Given the description of an element on the screen output the (x, y) to click on. 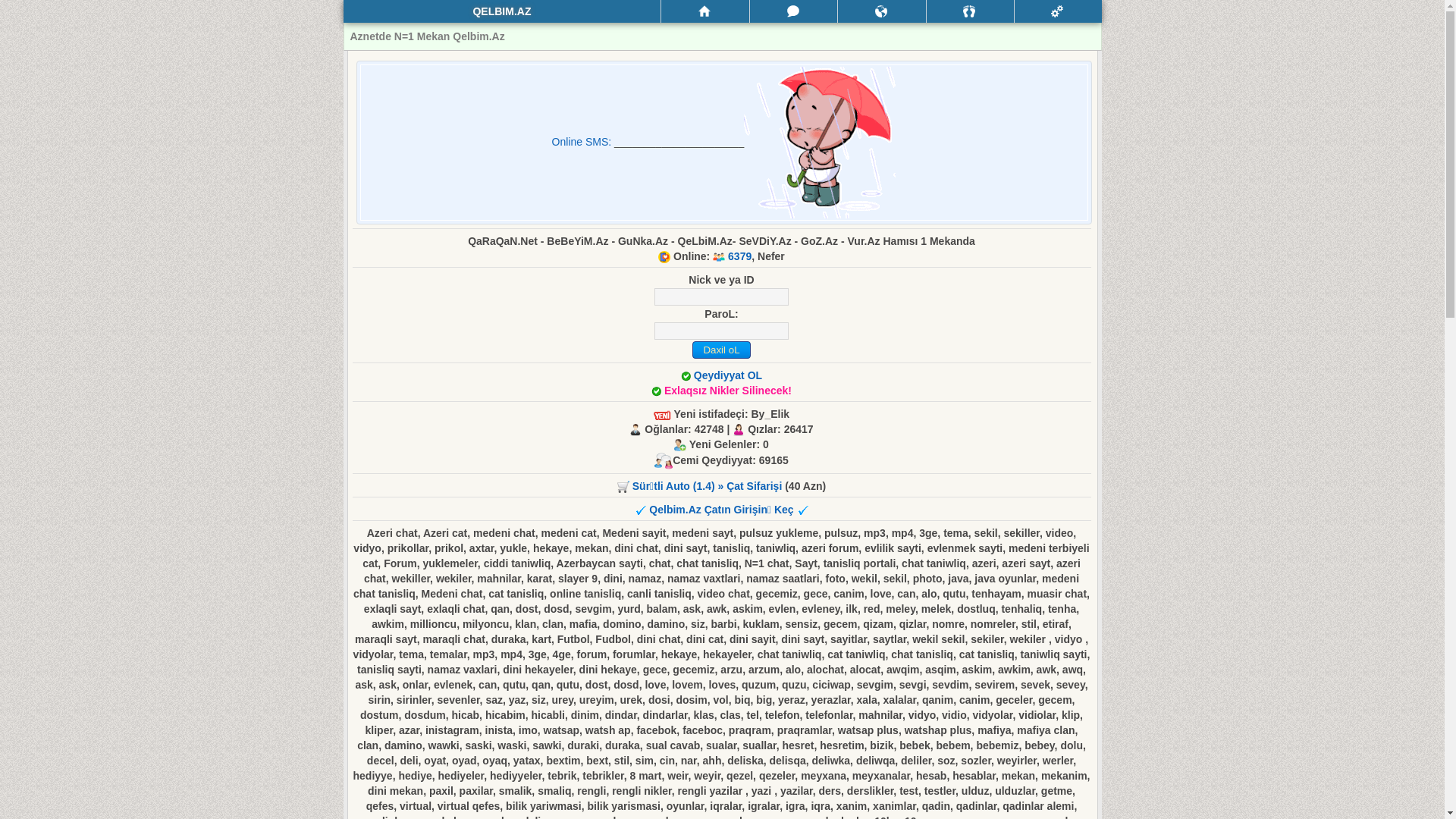
6379 Element type: text (739, 256)
QELBIM.AZ Element type: text (501, 11)
Online SMS: Element type: text (583, 141)
Daxil oL Element type: text (721, 349)
Qonaqlar Element type: hover (969, 11)
Qeydiyyat OL Element type: text (727, 375)
Mesajlar Element type: hover (793, 11)
Parol Element type: hover (721, 330)
Mektublar Element type: hover (881, 11)
Home Element type: hover (704, 11)
nick Element type: hover (721, 296)
